Given the description of an element on the screen output the (x, y) to click on. 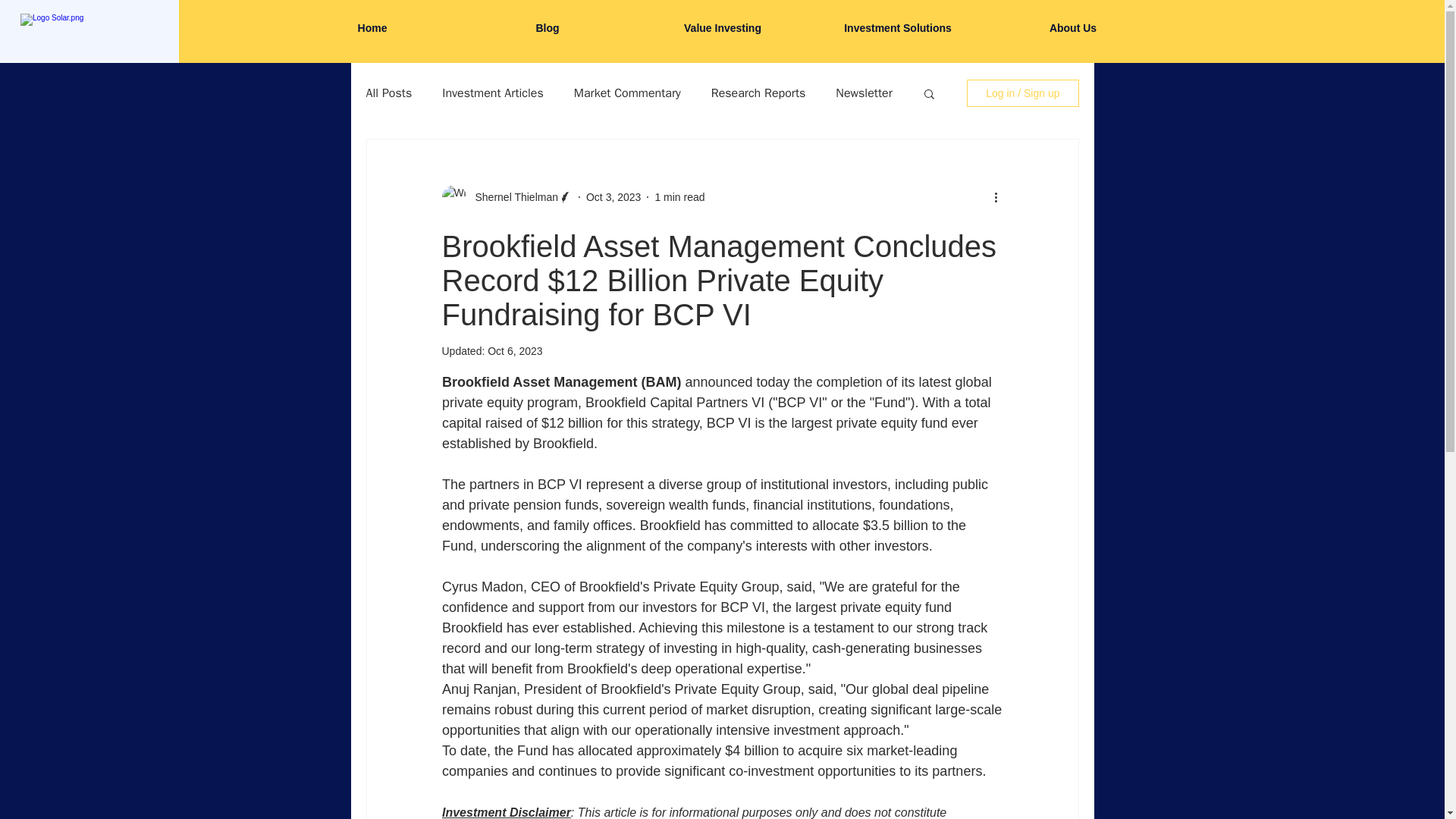
1 min read (678, 196)
Blog (547, 27)
Home (372, 27)
Market Commentary (627, 92)
Research Reports (758, 92)
About Us (1072, 27)
All Posts (388, 92)
Oct 6, 2023 (514, 350)
Investment Solutions (897, 27)
Investment Articles (492, 92)
